Given the description of an element on the screen output the (x, y) to click on. 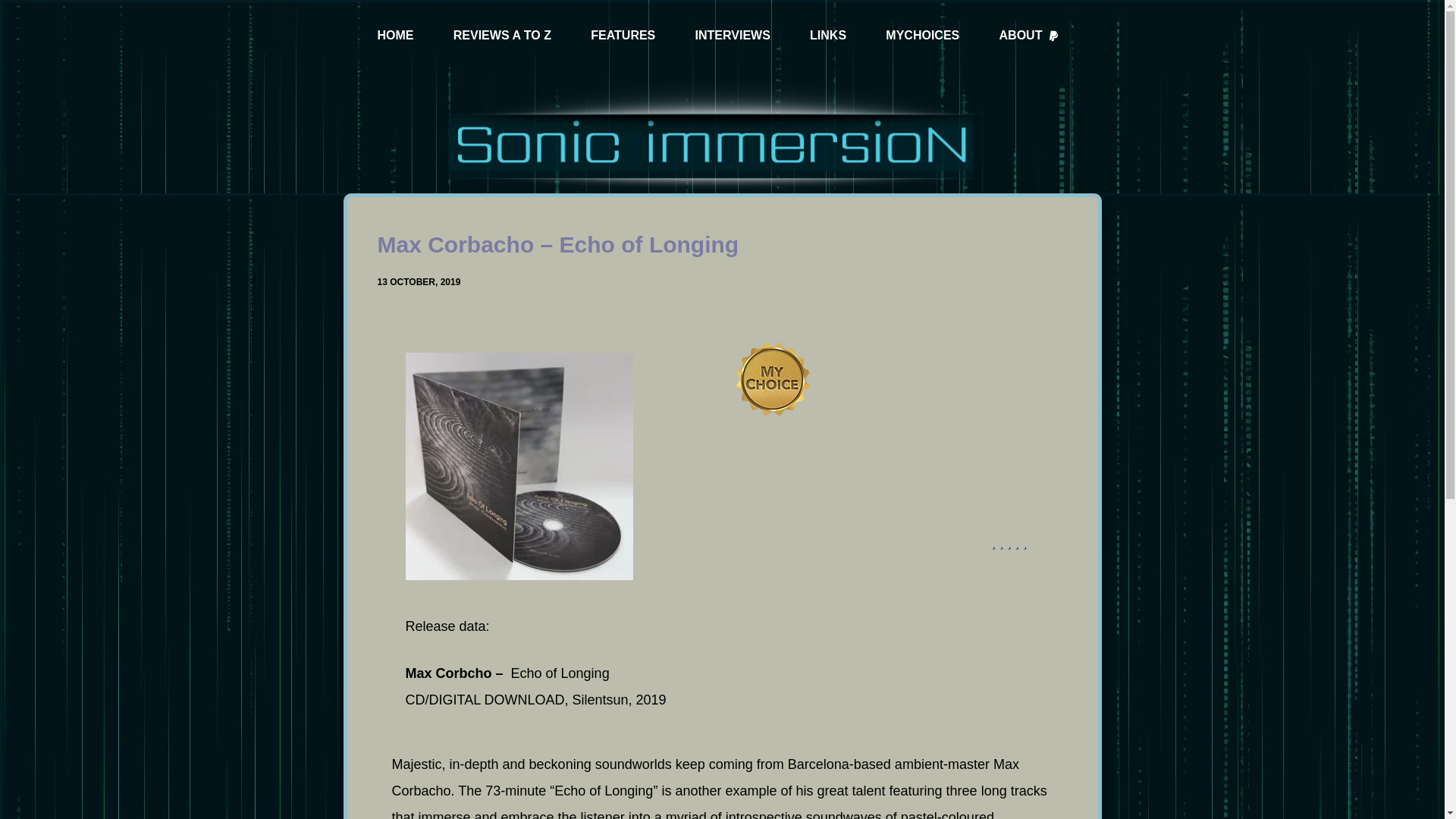
ABOUT (1029, 36)
LINKS (827, 36)
CreativeThemes (774, 793)
REVIEWS A TO Z (502, 36)
HOME (395, 36)
MYCHOICES (921, 36)
INTERVIEWS (732, 36)
FEATURES (622, 36)
Skip to content (15, 7)
